Given the description of an element on the screen output the (x, y) to click on. 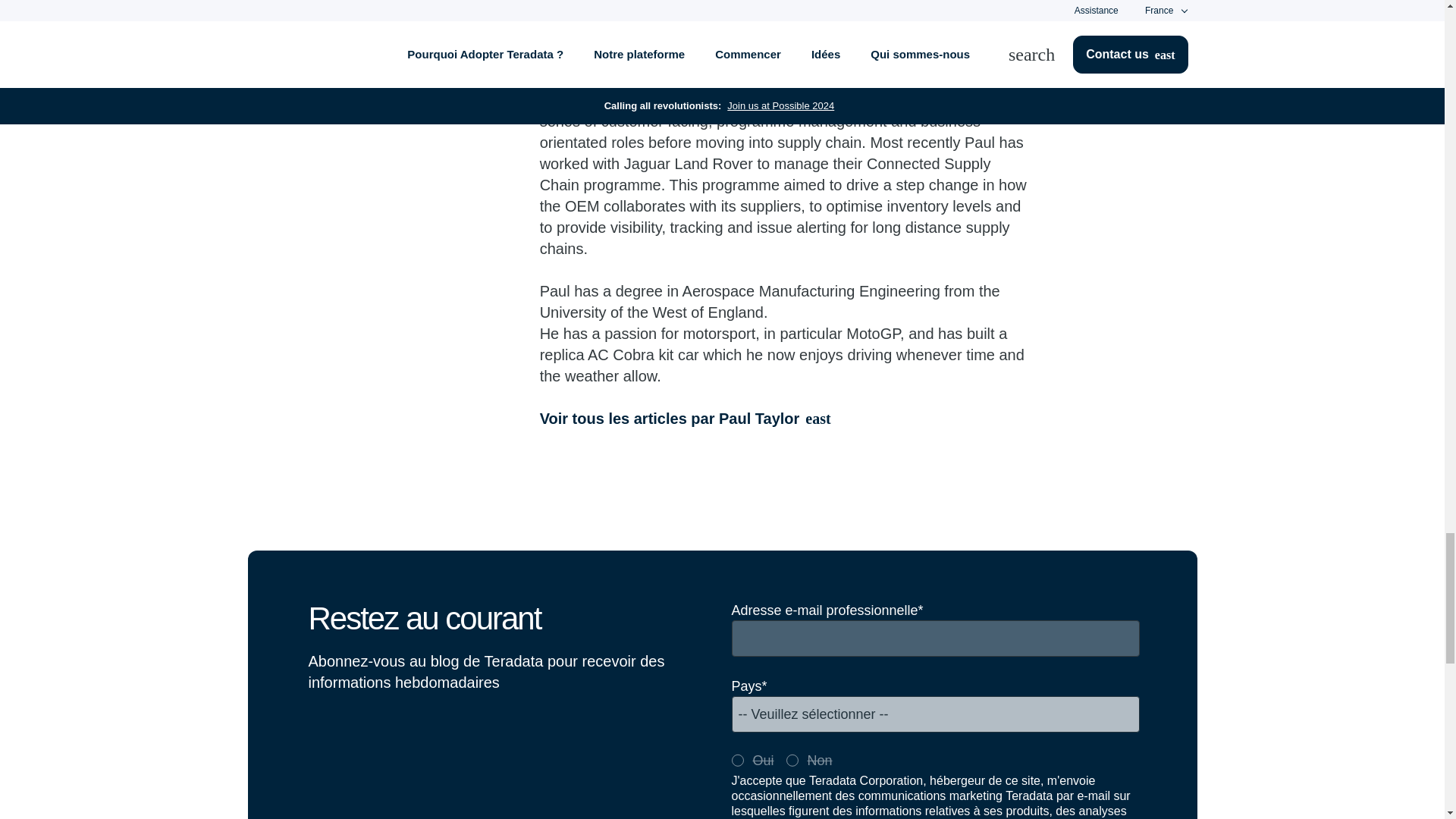
Paul Taylor (452, 47)
No (791, 760)
Voir tous les articles par Paul Taylor (785, 418)
Yes (736, 760)
